Given the description of an element on the screen output the (x, y) to click on. 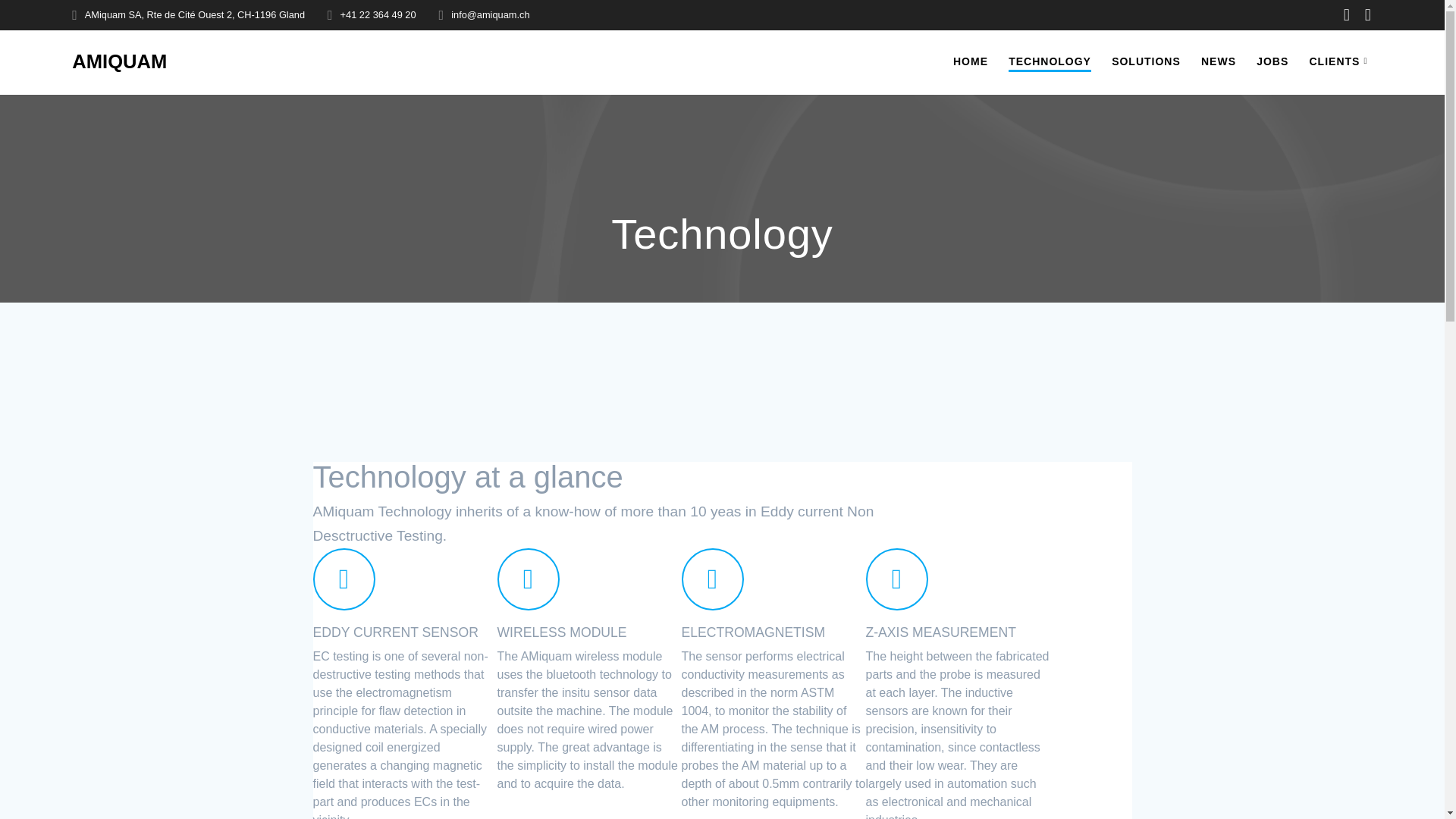
SOLUTIONS (1146, 61)
AMIQUAM (119, 62)
HOME (970, 61)
NEWS (1218, 61)
CLIENTS (1340, 61)
TECHNOLOGY (1049, 62)
JOBS (1272, 61)
